Given the description of an element on the screen output the (x, y) to click on. 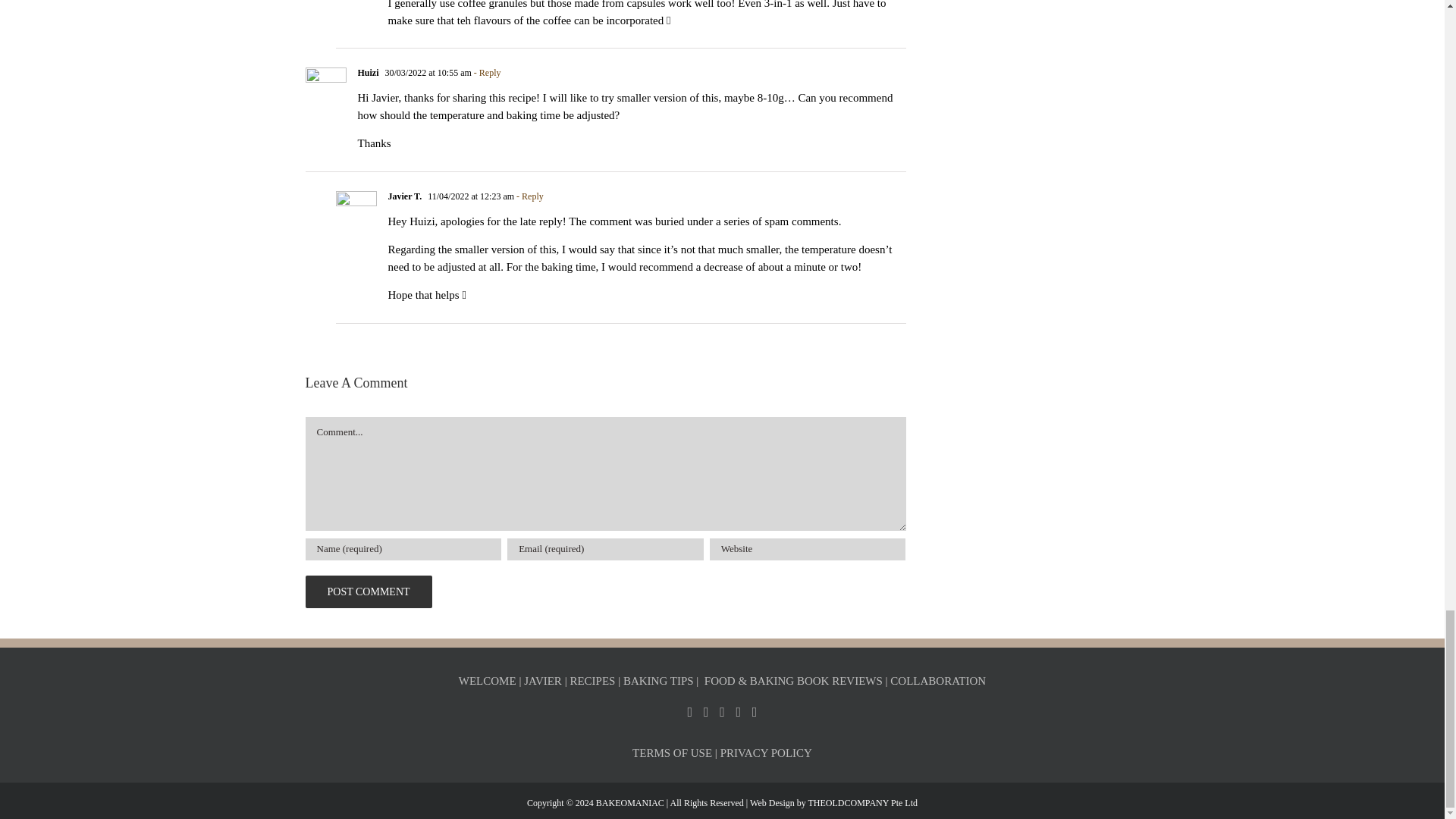
Post Comment (367, 591)
